Given the description of an element on the screen output the (x, y) to click on. 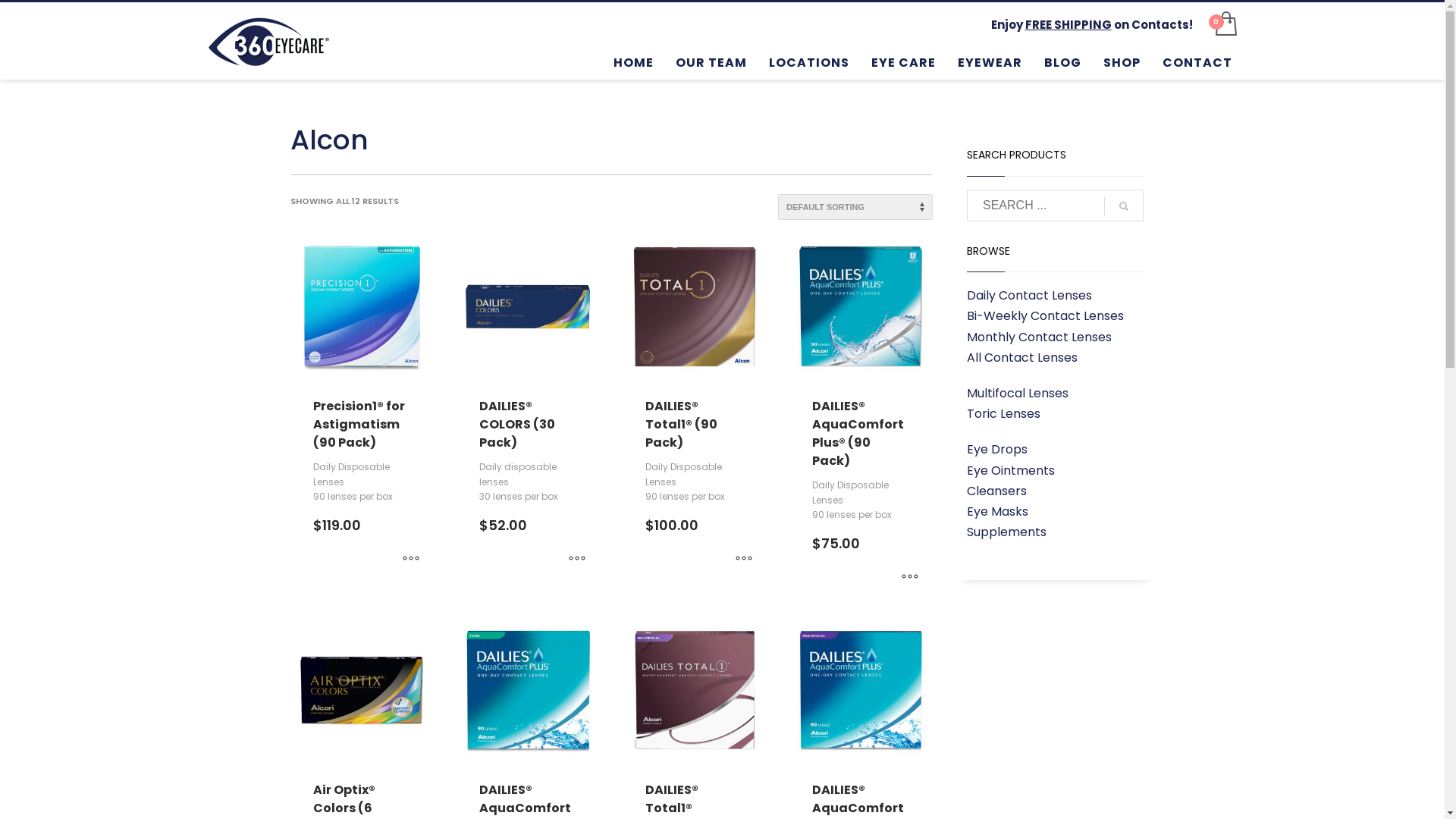
Daily Contact Lenses Element type: text (1029, 295)
View your shopping cart Element type: hover (1225, 24)
SHOP Element type: text (1121, 61)
Monthly Contact Lenses Element type: text (1038, 336)
EYEWEAR Element type: text (989, 61)
MORE INFO Element type: hover (410, 558)
Eye Masks Element type: text (997, 511)
Cleansers Element type: text (996, 490)
go Element type: text (1123, 206)
Eye Drops Element type: text (996, 449)
Toric Lenses Element type: text (1003, 413)
BLOG Element type: text (1062, 61)
MORE INFO Element type: hover (743, 558)
Bi-Weekly Contact Lenses Element type: text (1044, 315)
EYE CARE Element type: text (903, 61)
HOME Element type: text (633, 61)
MORE INFO Element type: hover (909, 577)
OUR TEAM Element type: text (711, 61)
Eye Ointments Element type: text (1010, 469)
All Contact Lenses Element type: text (1021, 357)
Supplements Element type: text (1006, 531)
LOCATIONS Element type: text (808, 61)
CONTACT Element type: text (1197, 61)
Multifocal Lenses Element type: text (1017, 392)
